Given the description of an element on the screen output the (x, y) to click on. 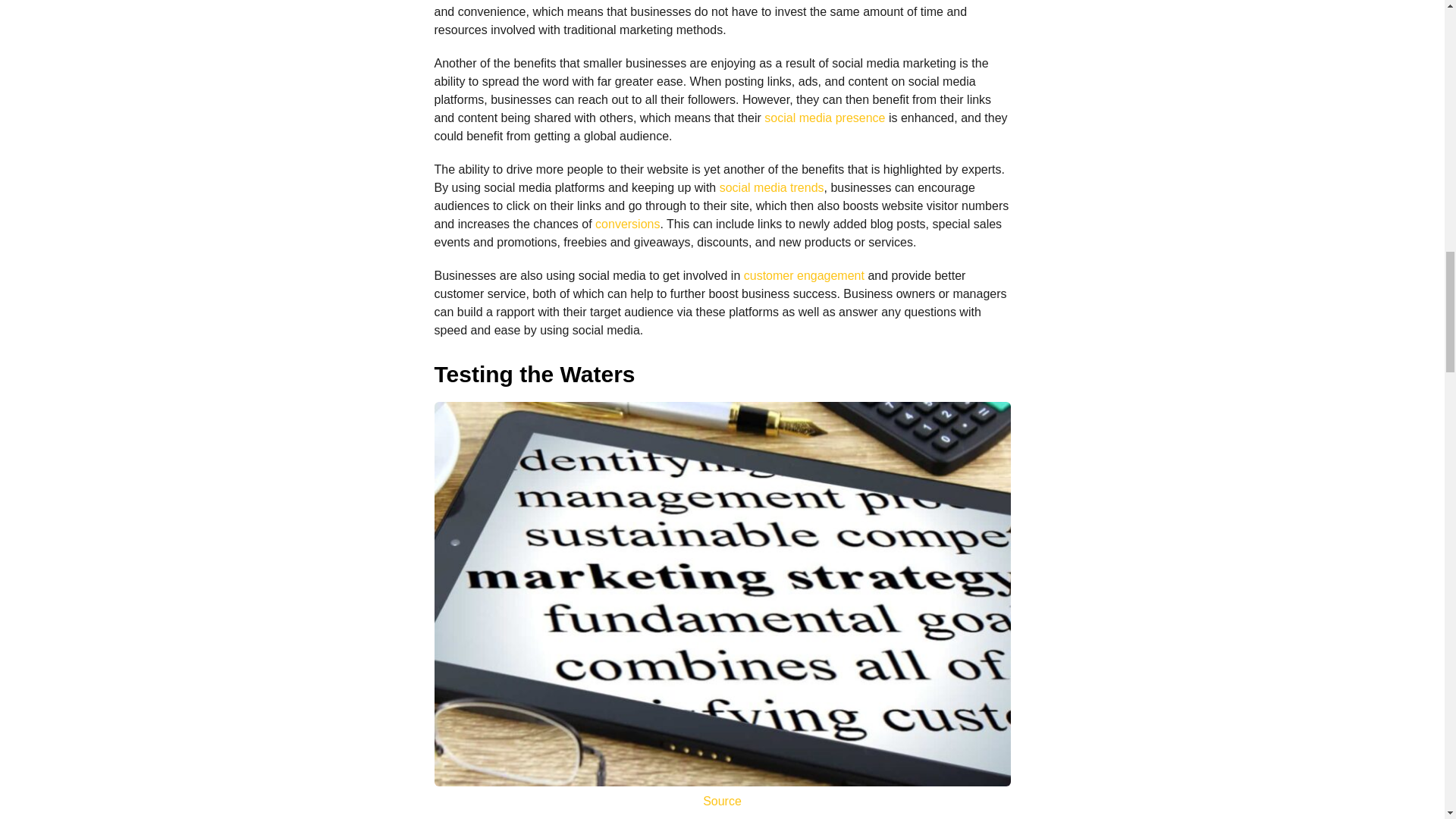
conversions (627, 223)
Source (722, 800)
social media presence (824, 117)
social media trends (771, 187)
customer engagement (804, 275)
